Given the description of an element on the screen output the (x, y) to click on. 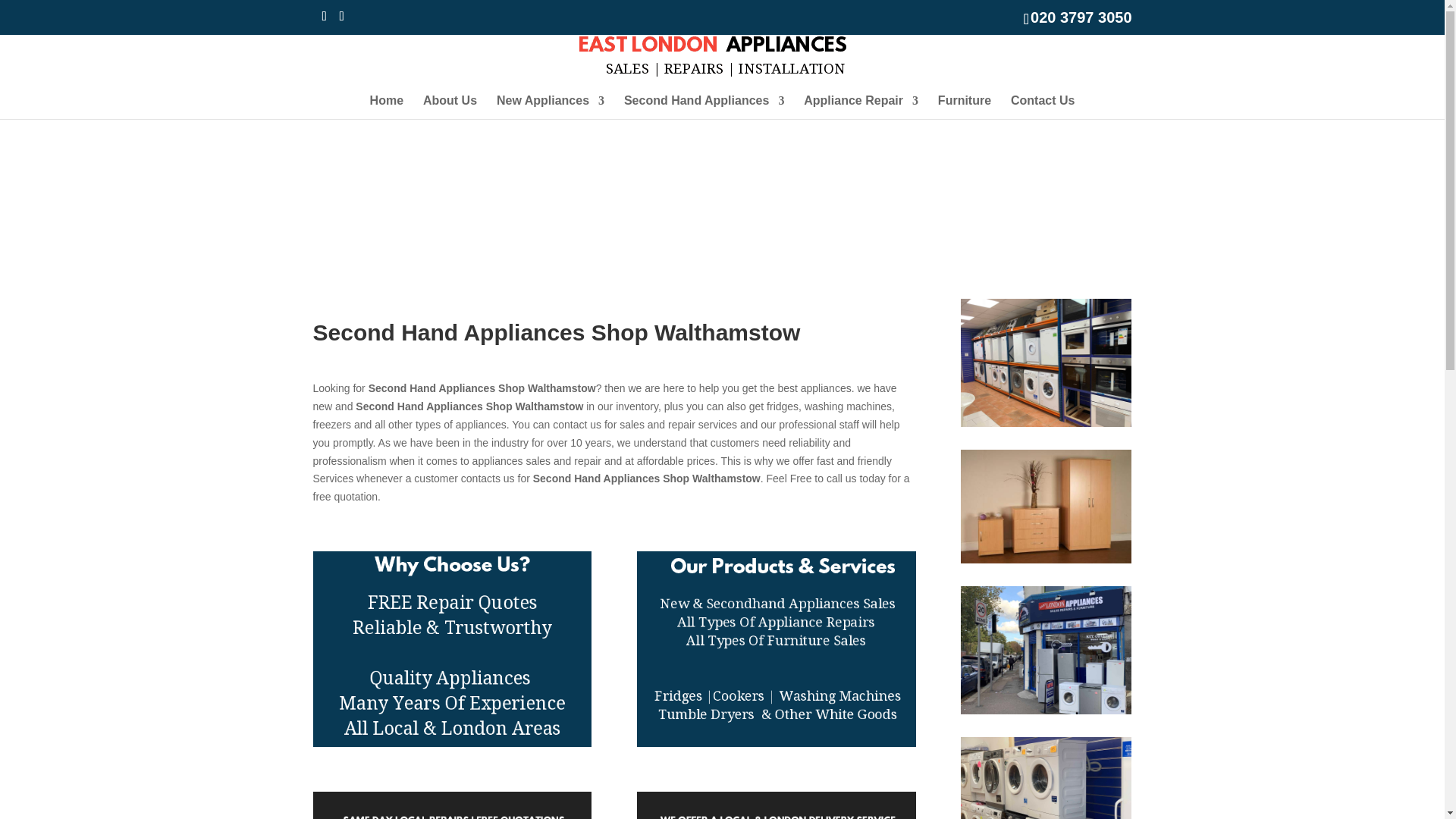
Furniture (964, 106)
About Us (450, 106)
New Appliances (550, 106)
Home (386, 106)
Second Hand Appliances (704, 106)
Appliance Repair (860, 106)
Contact Us (1042, 106)
